Given the description of an element on the screen output the (x, y) to click on. 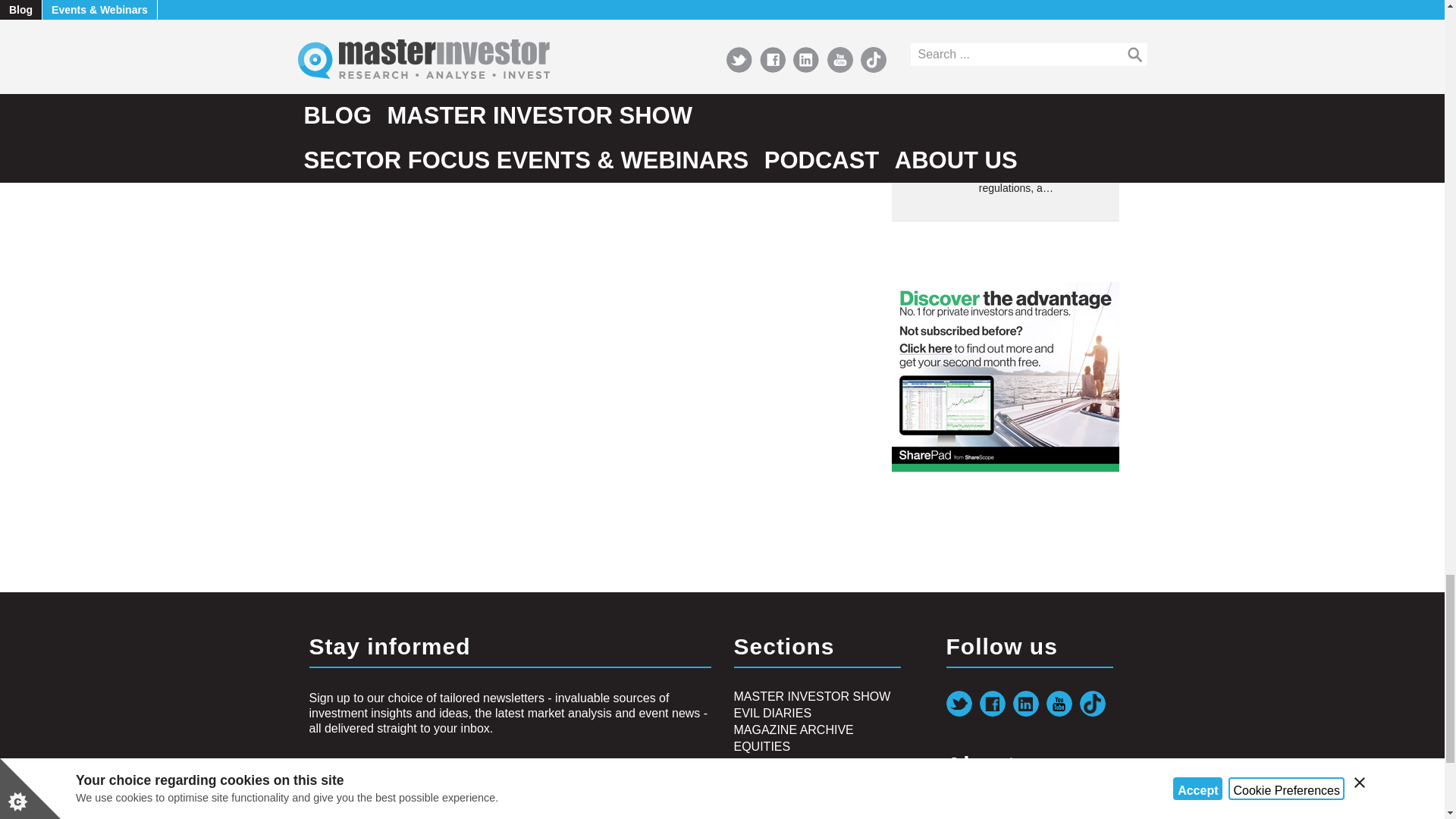
TOTAL secured as Master Investor Show exhibitor (934, 19)
Sign up (341, 816)
